Given the description of an element on the screen output the (x, y) to click on. 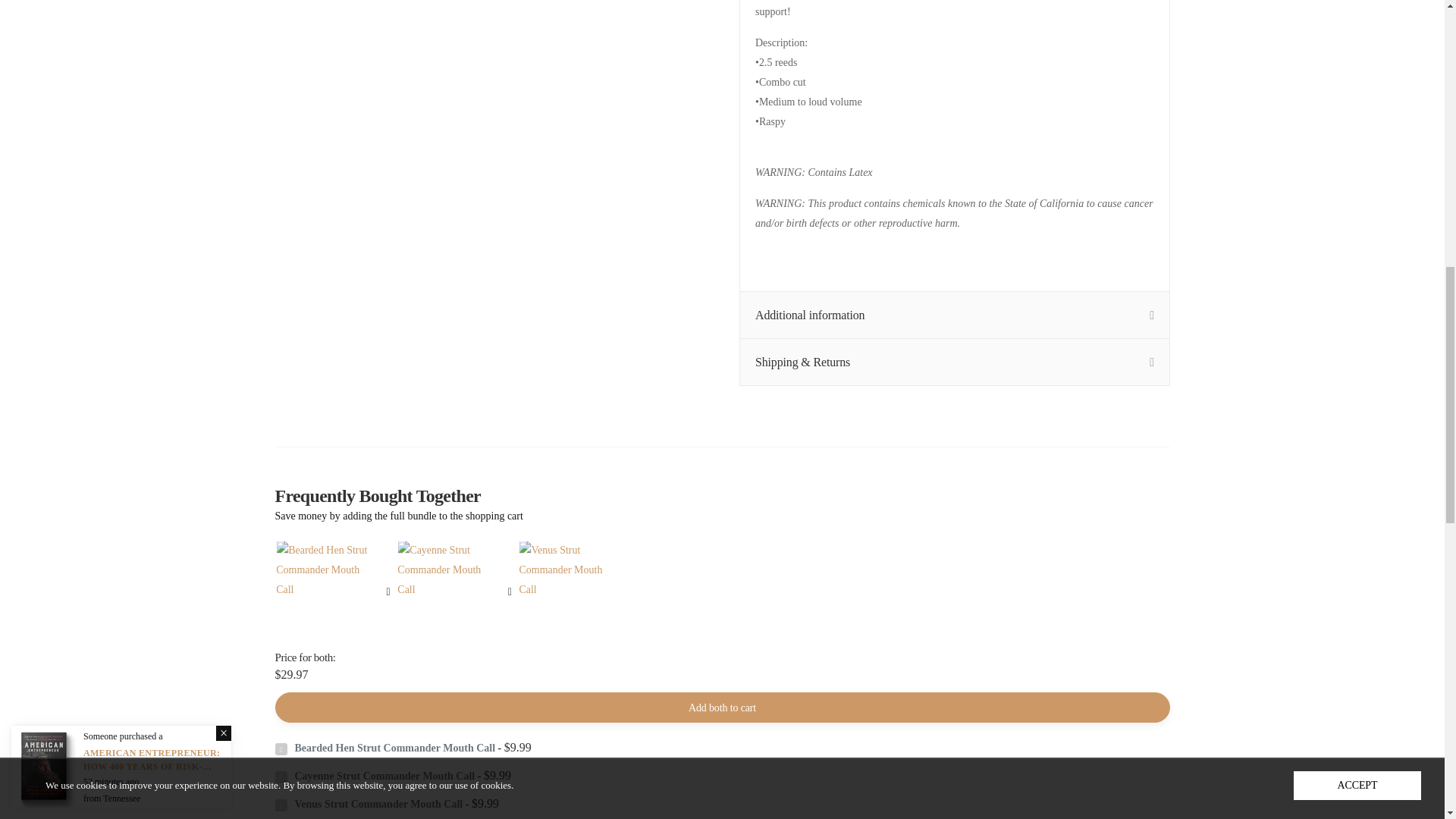
1 (987, 779)
